Given the description of an element on the screen output the (x, y) to click on. 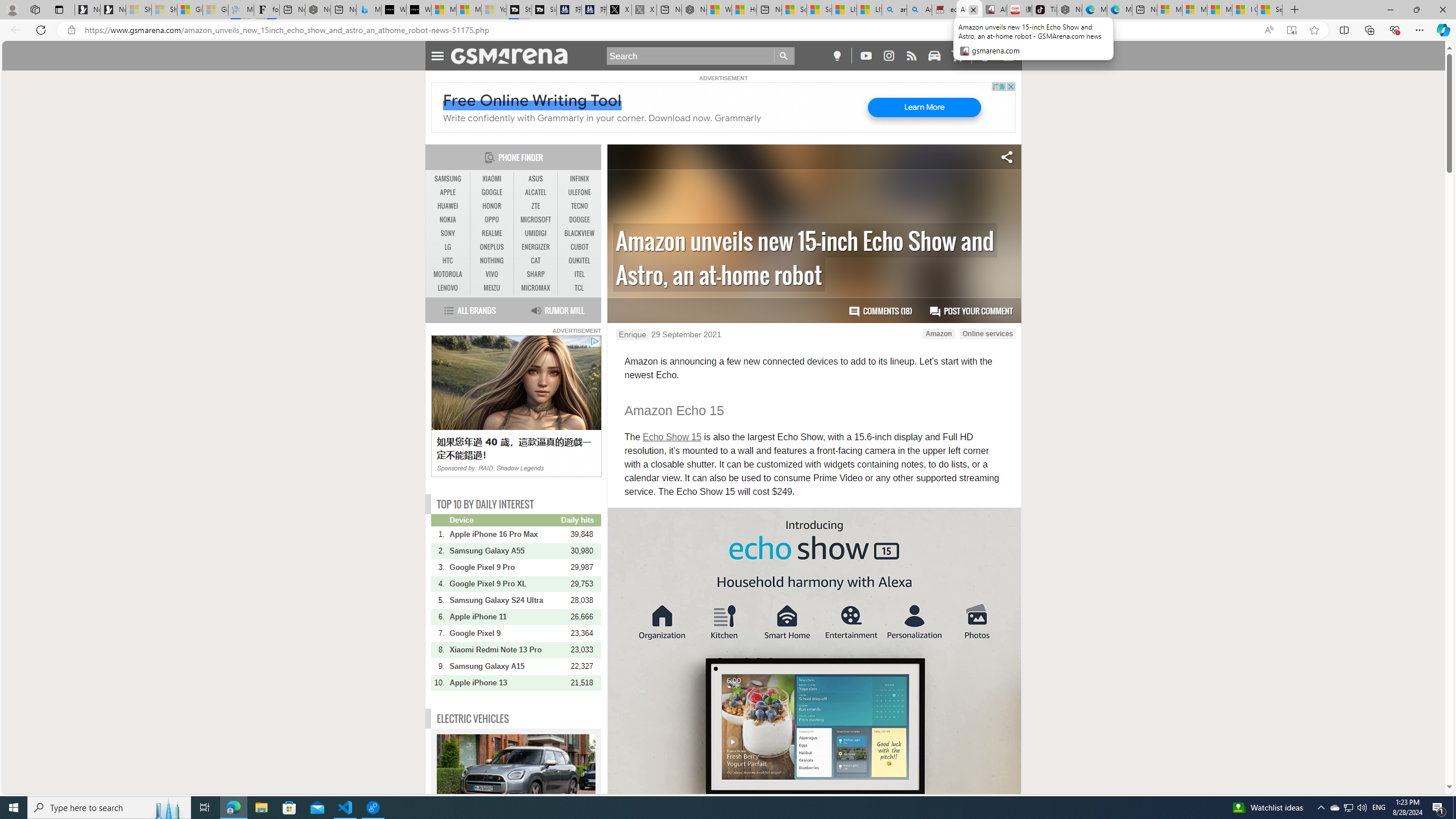
LG (448, 246)
OUKITEL (579, 260)
CAT (535, 260)
LENOVO (448, 287)
SONY (448, 233)
Samsung Galaxy A15 (504, 665)
GOOGLE (491, 192)
TECNO (579, 206)
LENOVO (448, 287)
HTC (448, 260)
MICROSOFT (535, 219)
Samsung Galaxy A55 (504, 550)
